Given the description of an element on the screen output the (x, y) to click on. 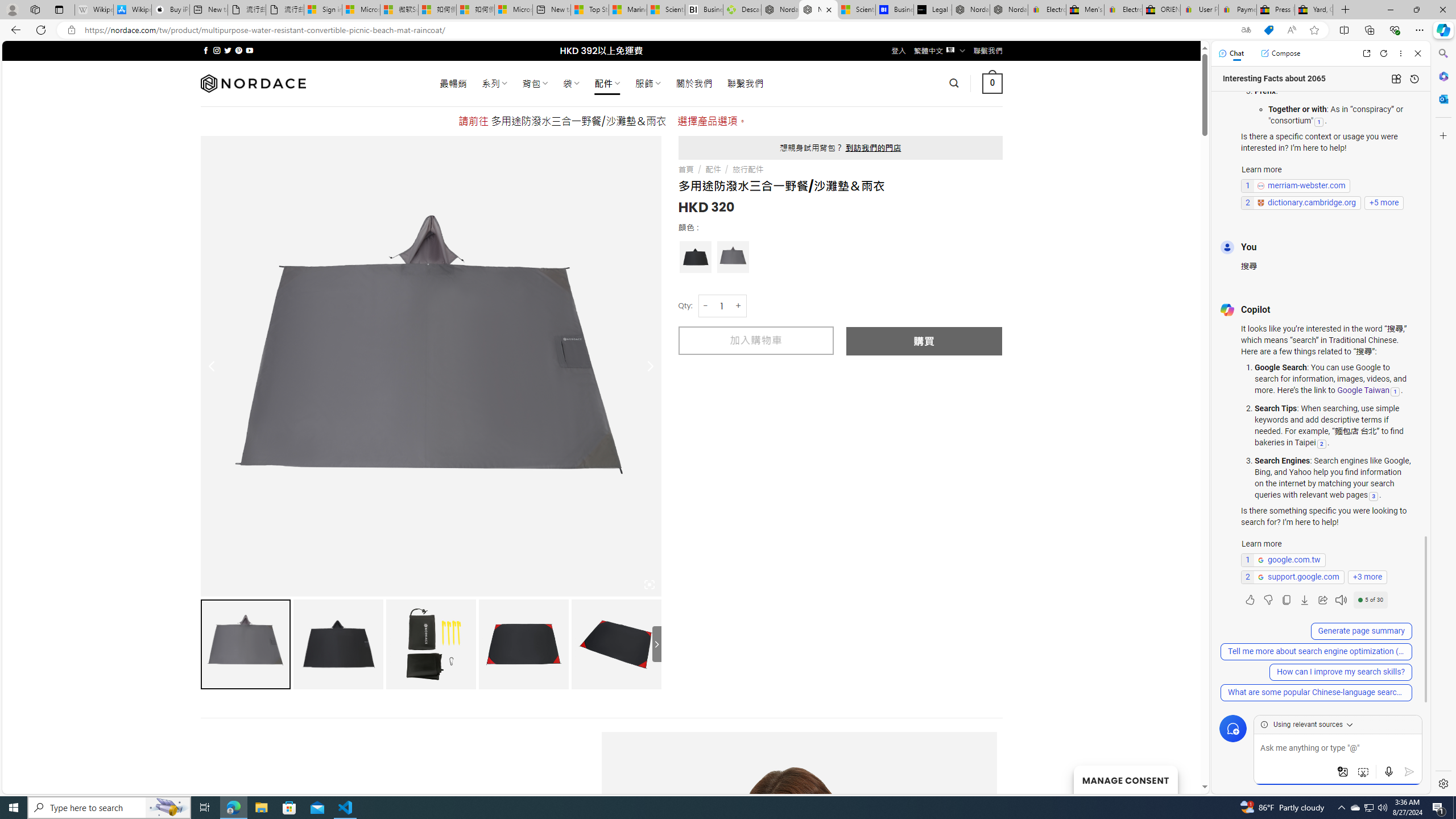
Buy iPad - Apple (171, 9)
